Given the description of an element on the screen output the (x, y) to click on. 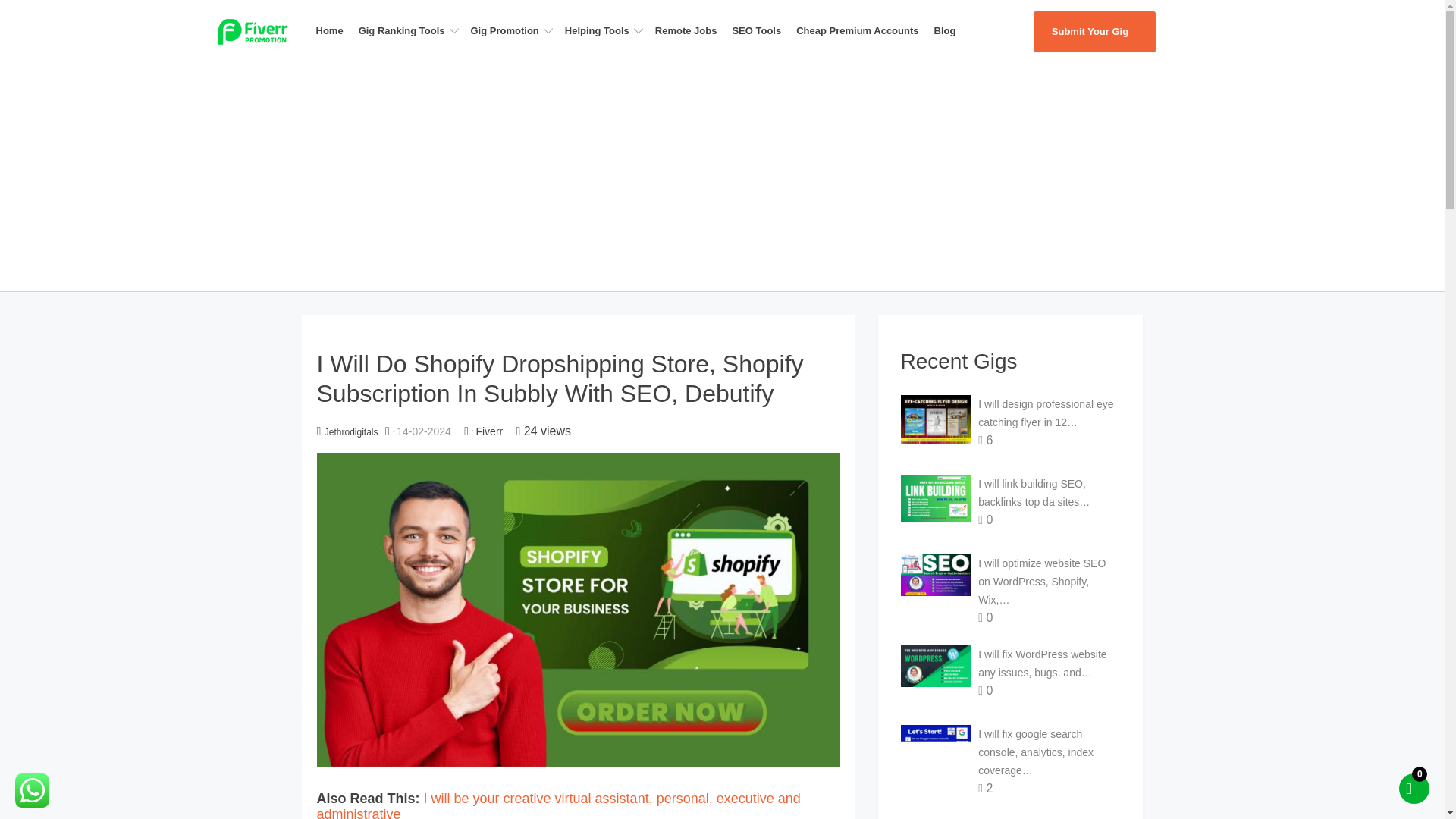
SEO Tools (761, 30)
Jethrodigitals (351, 430)
14-02-2024 (423, 430)
Blog (949, 30)
Gig Ranking Tools (411, 30)
Submit Your Gig (1094, 31)
Fiverr (489, 430)
Helping Tools (607, 30)
Cheap Premium Accounts (861, 30)
Gig Promotion (513, 30)
